Given the description of an element on the screen output the (x, y) to click on. 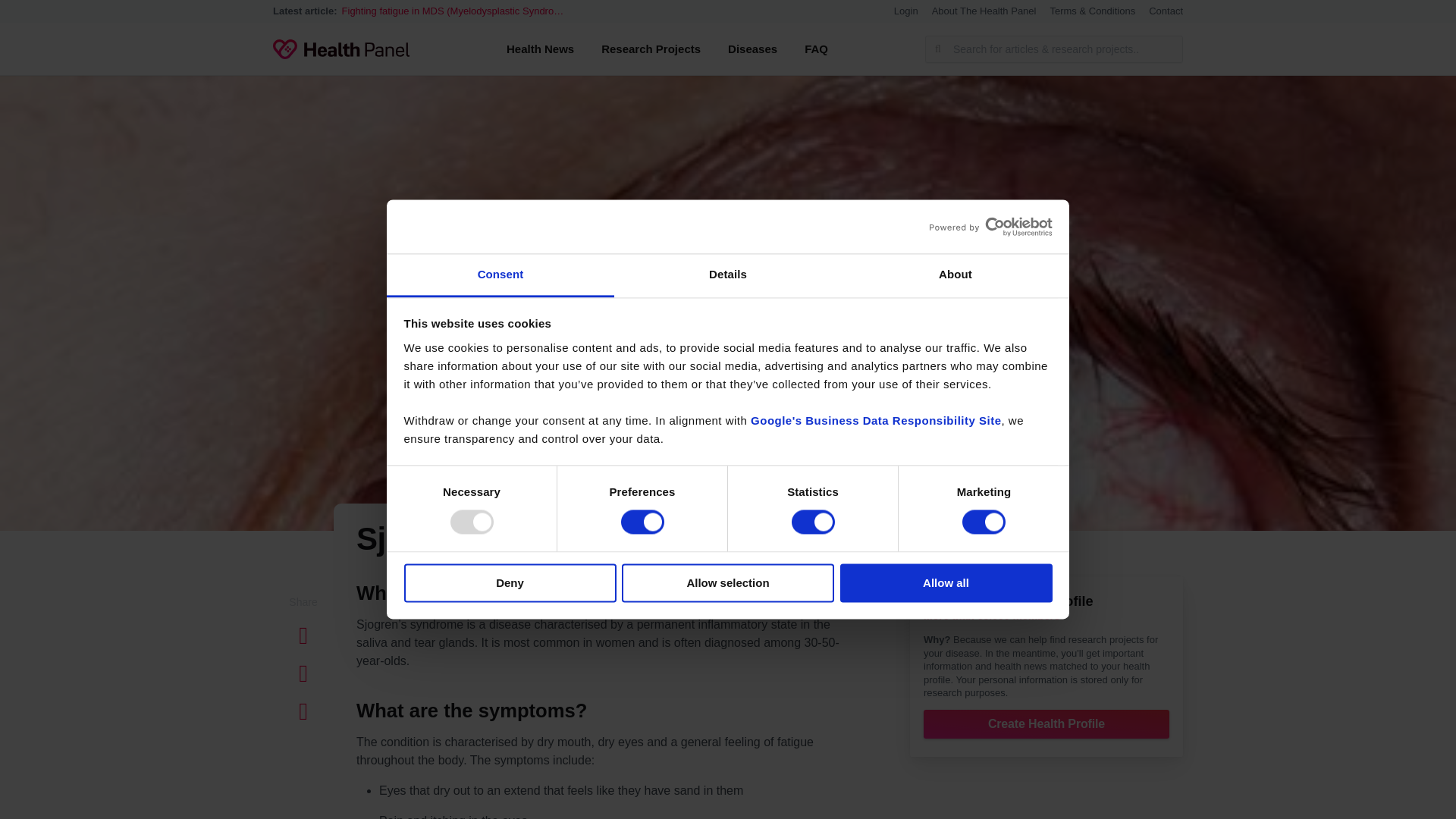
About (954, 275)
Login (905, 10)
Google's Business Data Responsibility Site (876, 420)
Details (727, 275)
Consent (500, 275)
